Given the description of an element on the screen output the (x, y) to click on. 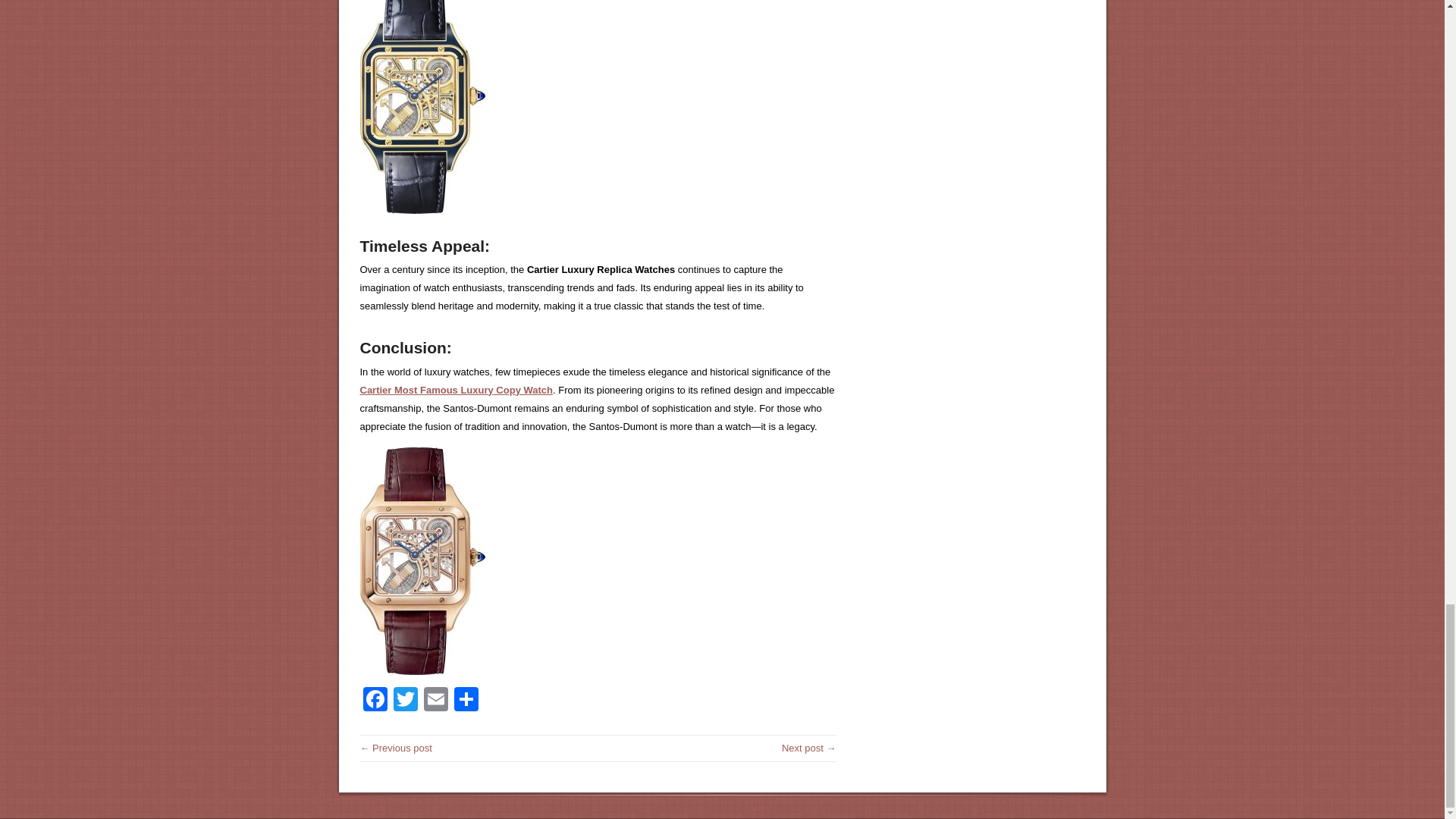
Twitter (405, 700)
Twitter (405, 700)
The Quality Cartier Baignoire Watches Supplier in China (808, 747)
Email (434, 700)
Facebook (374, 700)
Email (434, 700)
Cartier Most Famous Luxury Copy Watch (456, 389)
Facebook (374, 700)
